Given the description of an element on the screen output the (x, y) to click on. 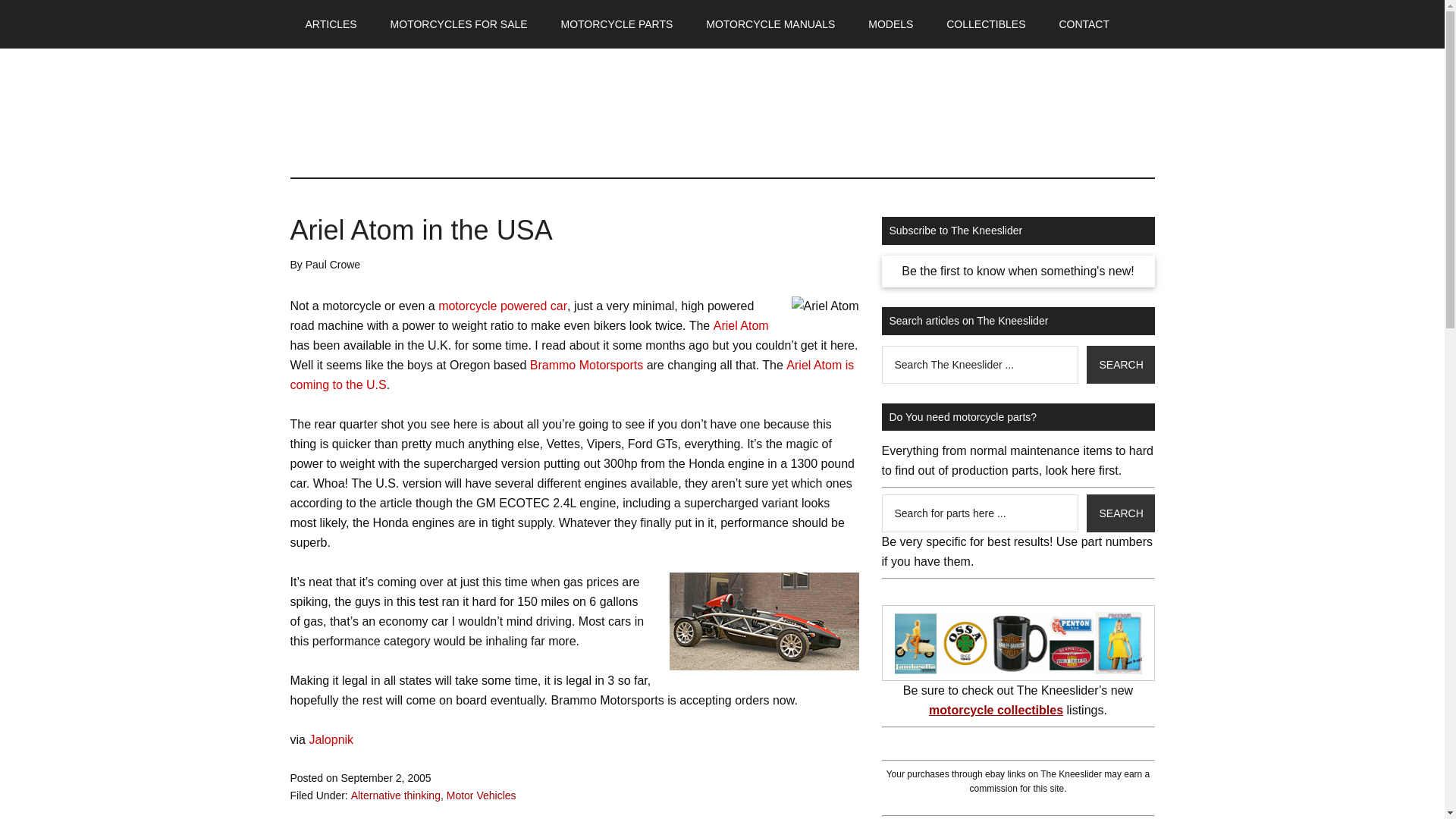
MOTORCYCLE PARTS (617, 24)
MOTORCYCLE MANUALS (770, 24)
Ariel Atom (763, 621)
Ariel Atom (740, 325)
Search (1120, 513)
The Kneeslider (433, 112)
Search (1120, 364)
Ariel Atom (825, 306)
Search (1120, 513)
ARTICLES (330, 24)
CONTACT (1083, 24)
COLLECTIBLES (986, 24)
Ariel Atom is coming to the U.S (571, 374)
motorcycle powered car (502, 305)
MODELS (890, 24)
